Given the description of an element on the screen output the (x, y) to click on. 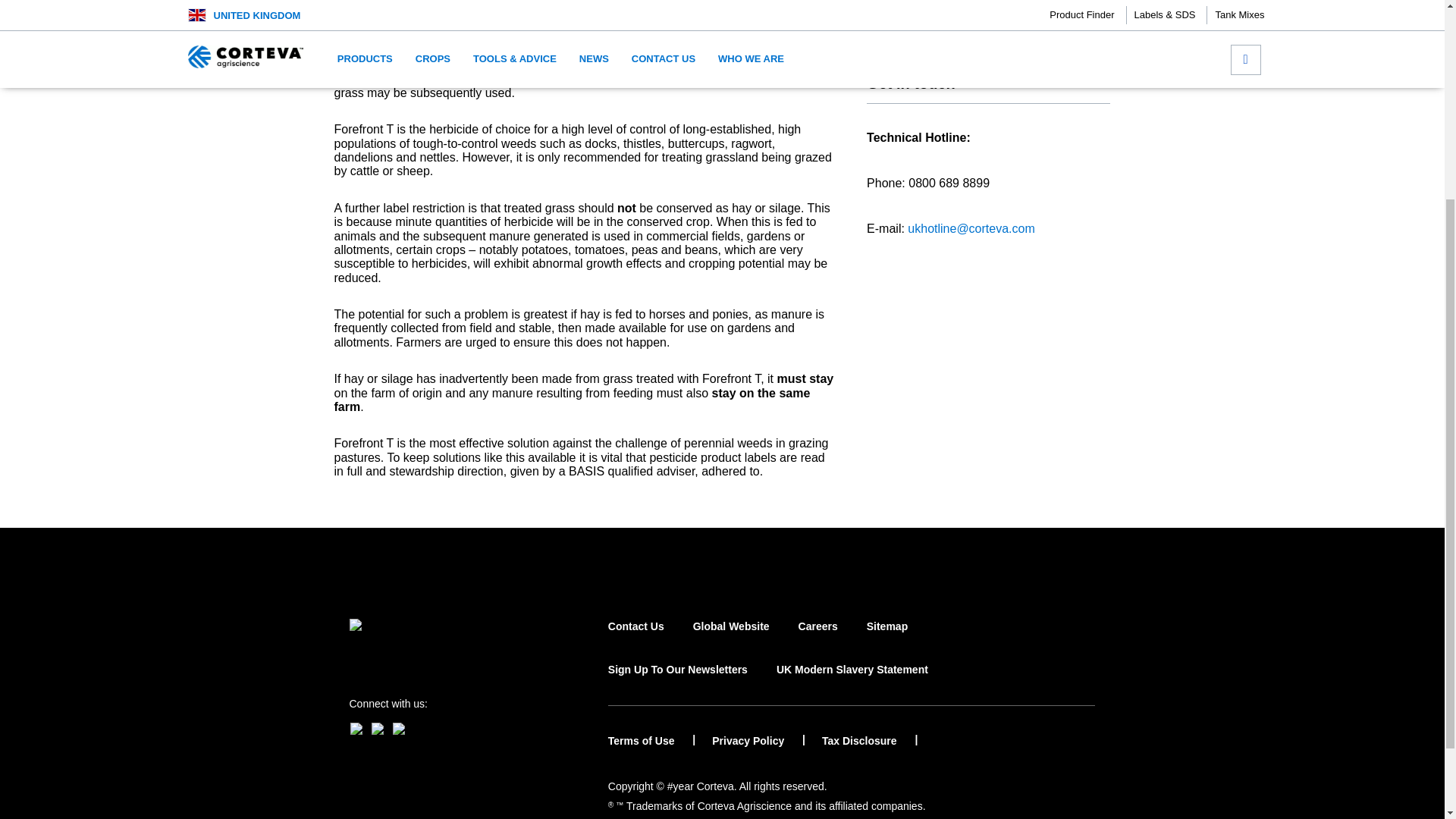
UK Modern Slavery Statement (852, 683)
Tax Disclosure (869, 741)
Contact Us (635, 640)
Sign Up To Our Newsletters (678, 683)
Careers (817, 640)
Terms of Use (651, 741)
Sitemap (886, 640)
Global Website (731, 640)
Privacy Policy (758, 741)
